Given the description of an element on the screen output the (x, y) to click on. 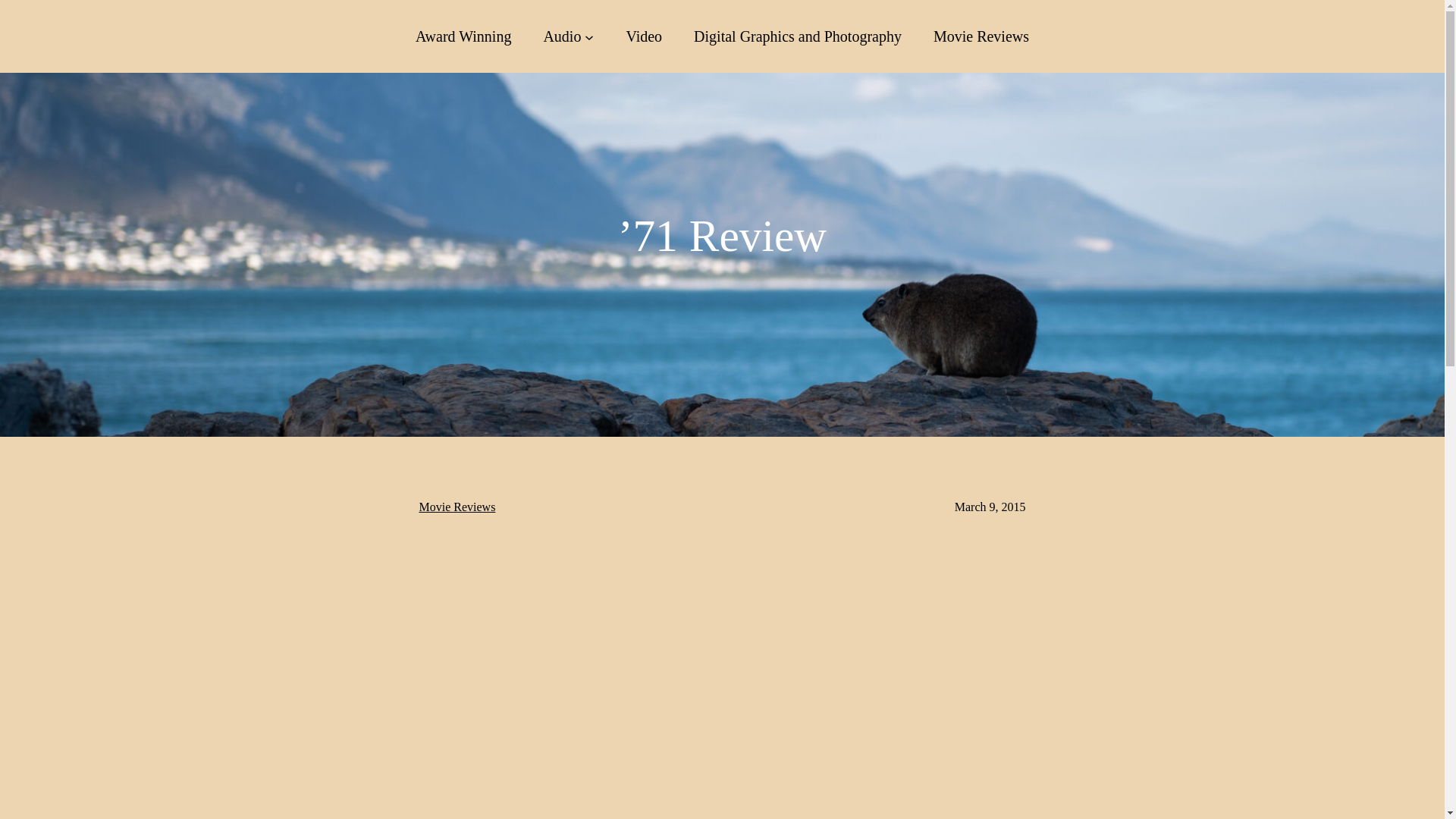
Digital Graphics and Photography (797, 36)
Movie Reviews (457, 506)
Award Winning (462, 36)
Audio (561, 36)
Video (644, 36)
Movie Reviews (981, 36)
